Given the description of an element on the screen output the (x, y) to click on. 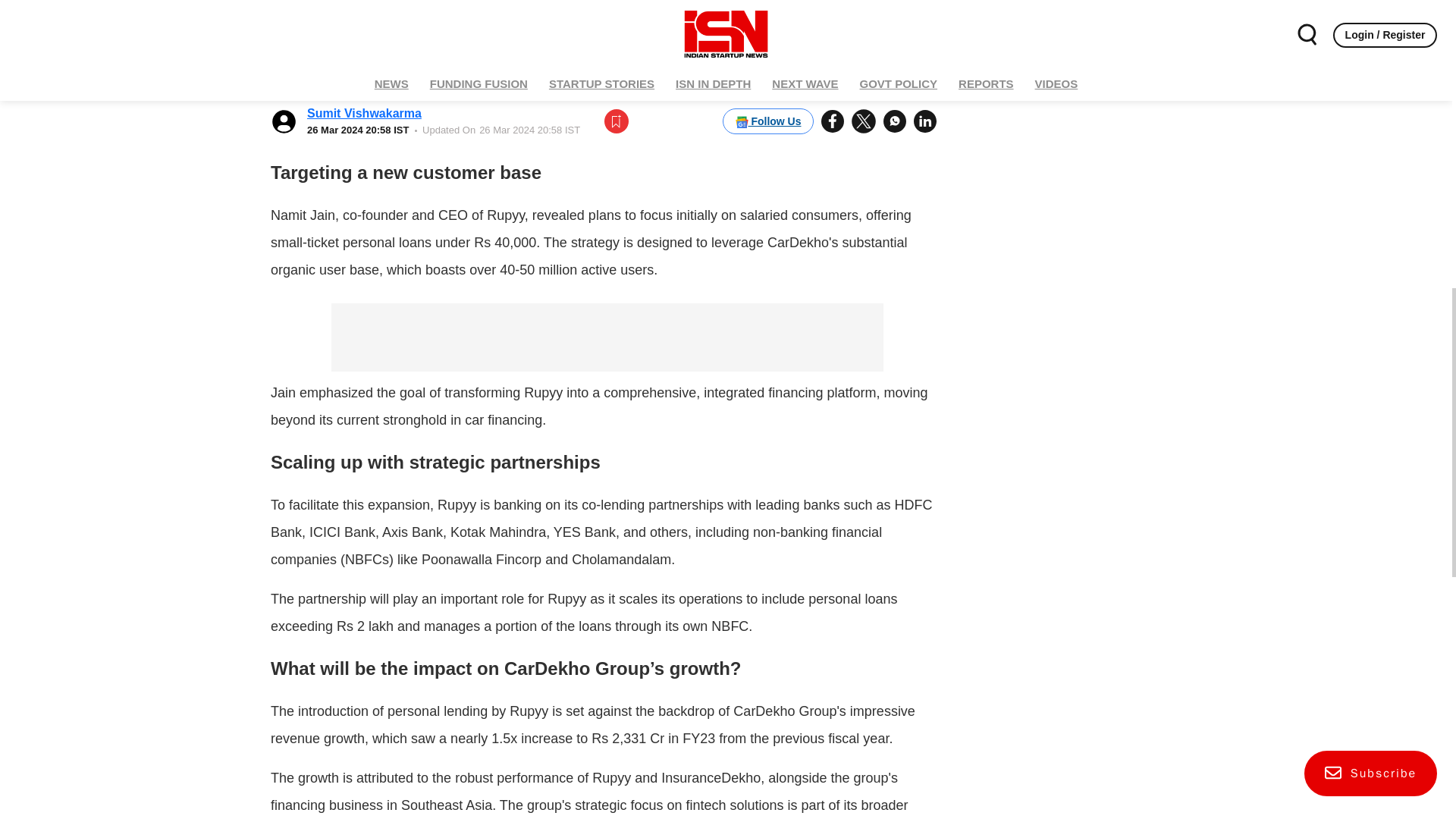
loans (729, 102)
digital lending (657, 36)
Authors (1066, 8)
CarDekho (455, 36)
